Given the description of an element on the screen output the (x, y) to click on. 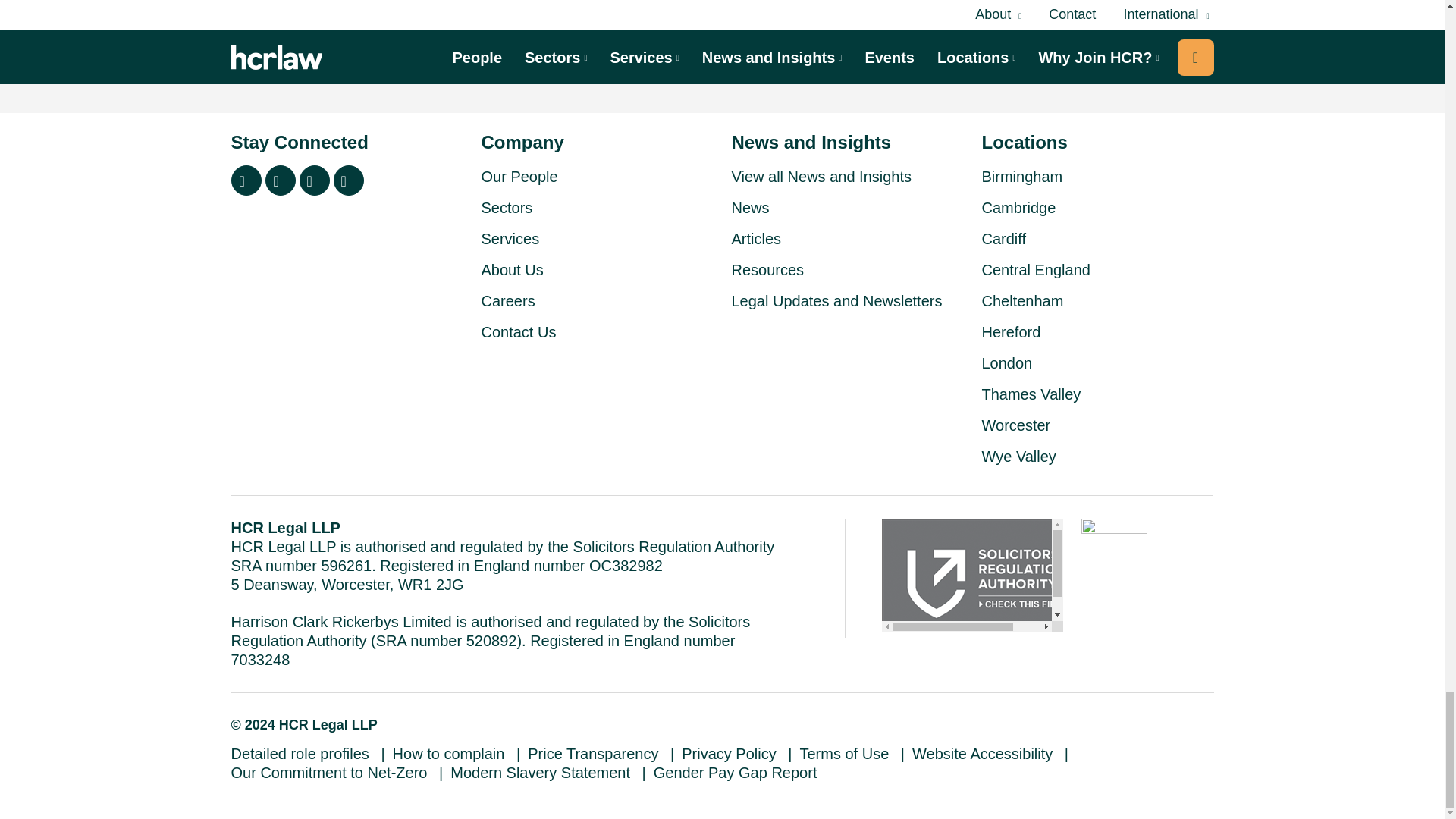
Solicitors Regulation Authority (972, 575)
